Given the description of an element on the screen output the (x, y) to click on. 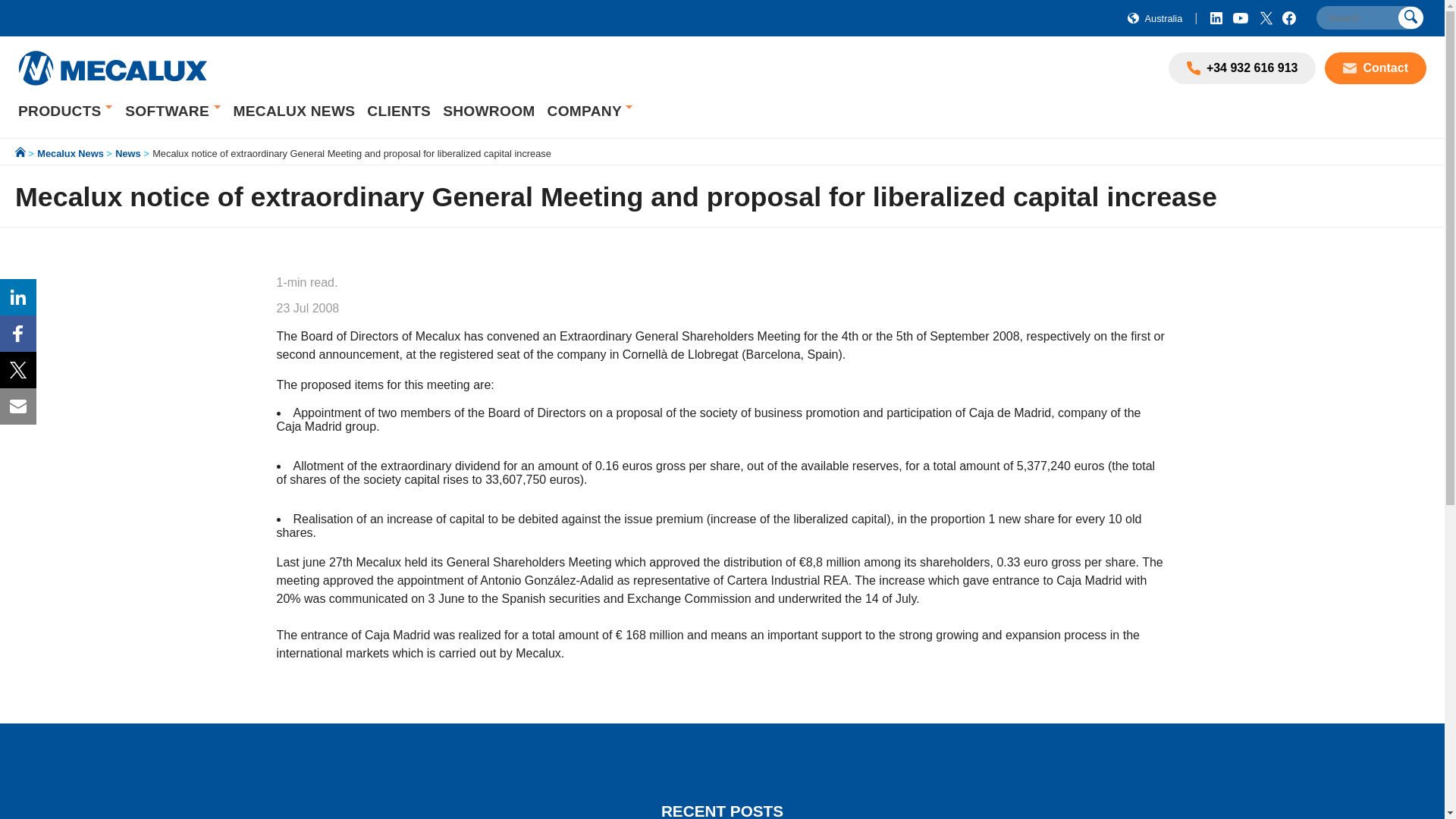
Mecalux, Warehouse solutions (112, 86)
Mecalux, Warehouse solutions (112, 67)
PRODUCTS (60, 110)
Search (1369, 17)
Contact (1375, 68)
Contact (1375, 68)
Contact (1352, 68)
Warehouse solutions (60, 110)
